Given the description of an element on the screen output the (x, y) to click on. 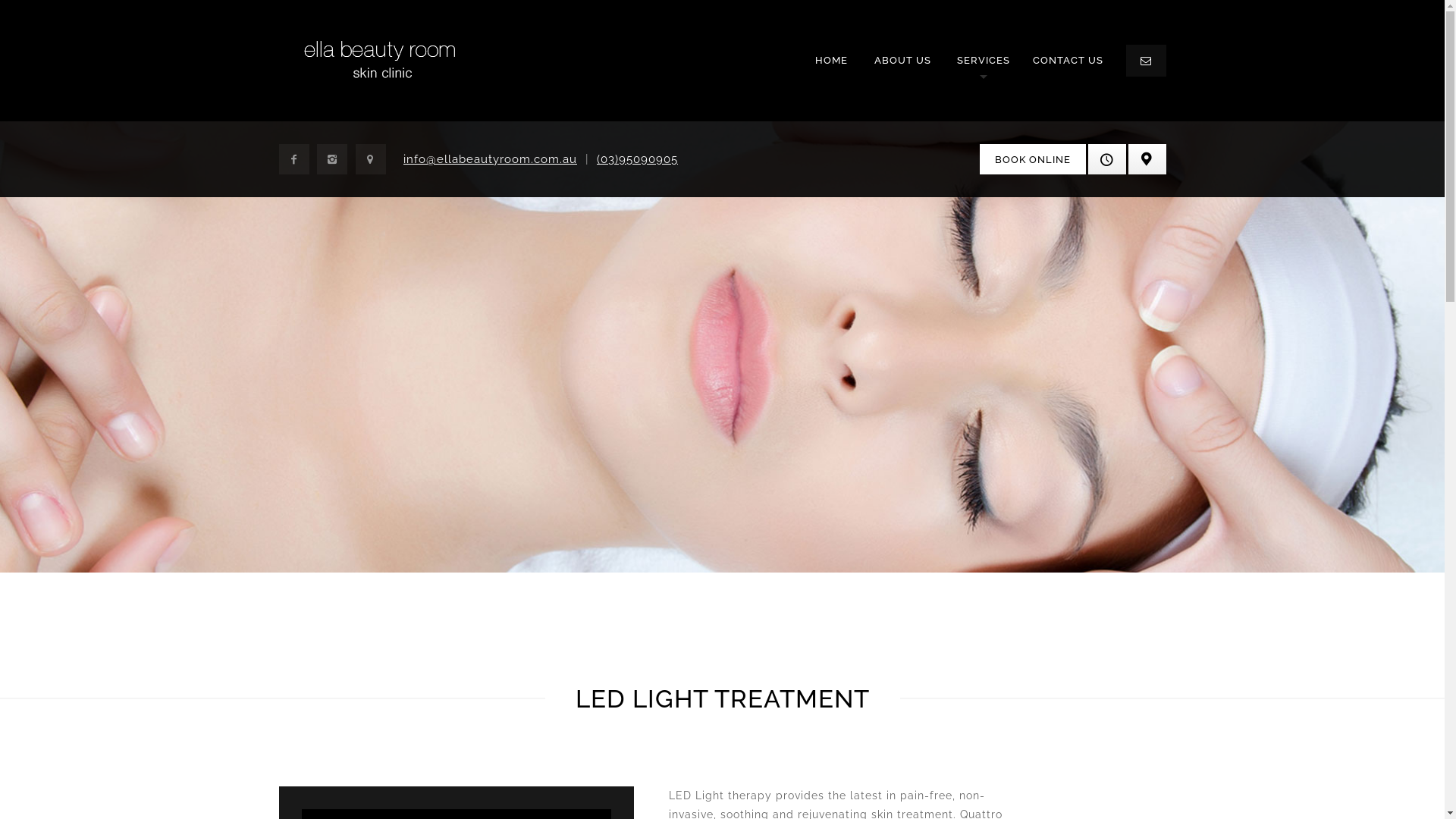
ABOUT US Element type: text (901, 60)
SERVICES Element type: text (983, 60)
info@ellabeautyroom.com.au Element type: text (490, 159)
HOME Element type: text (831, 60)
CONTACT US Element type: text (1067, 60)
BOOK ONLINE Element type: text (1032, 159)
(03)95090905 Element type: text (636, 159)
